Given the description of an element on the screen output the (x, y) to click on. 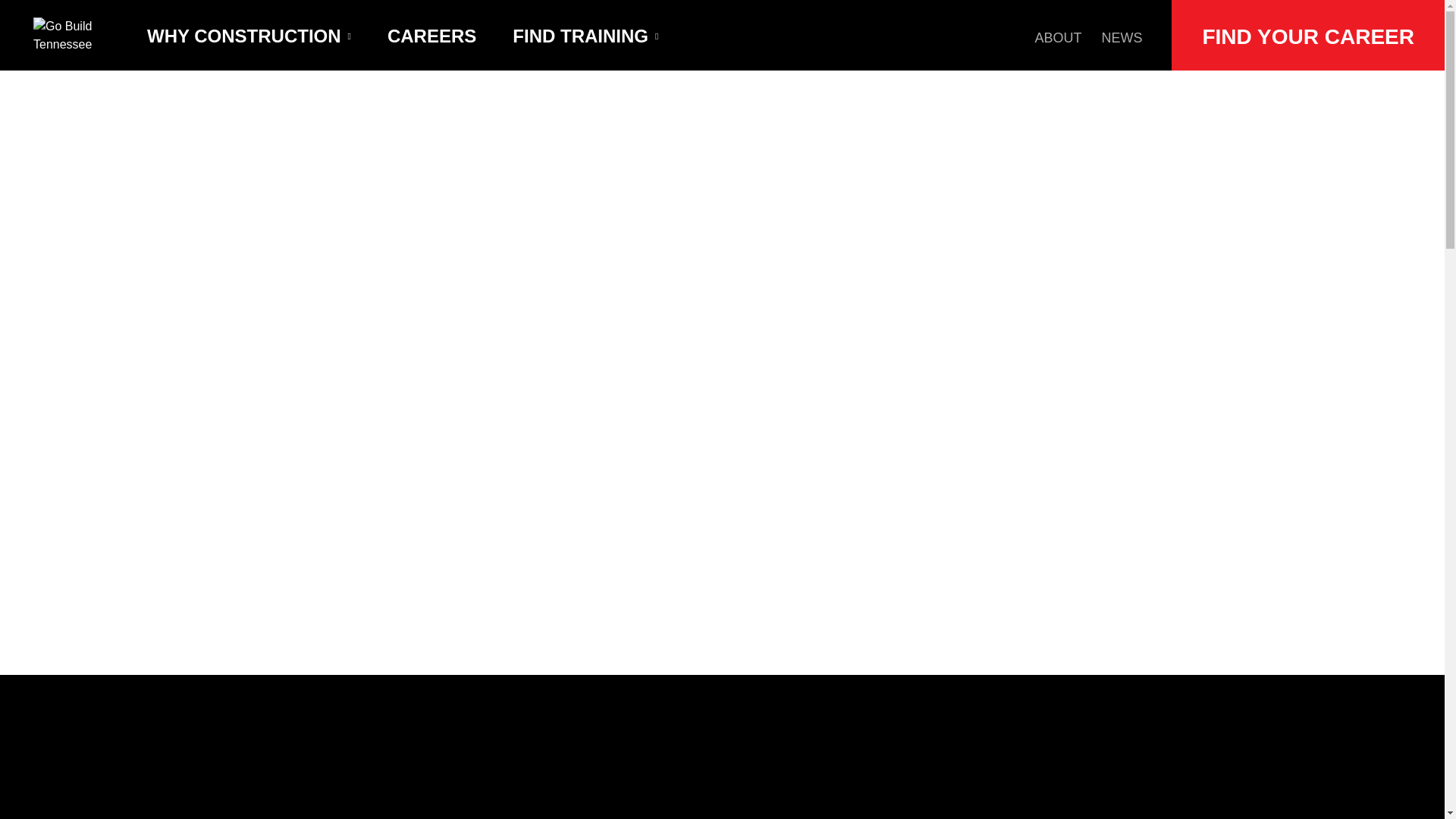
Go Build Tennessee (69, 34)
WHY CONSTRUCTION (249, 35)
ABOUT (1057, 34)
CAREERS (432, 35)
NEWS (1120, 34)
FIND TRAINING (586, 35)
